Given the description of an element on the screen output the (x, y) to click on. 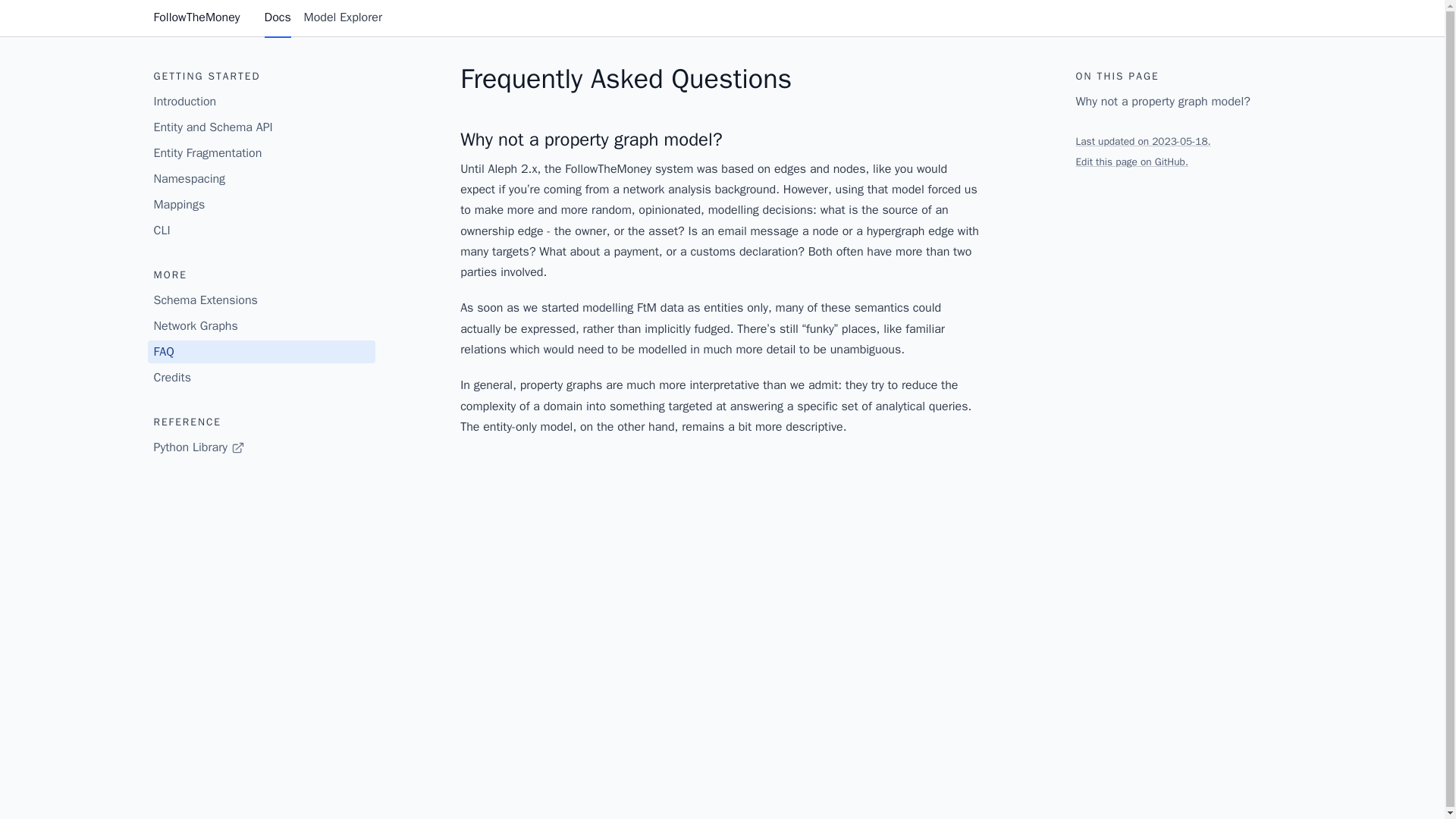
Network Graphs (260, 325)
Python Library (260, 446)
FAQ (260, 351)
Last updated on 2023-05-18. (1142, 141)
Entity Fragmentation (260, 152)
Schema Extensions (260, 300)
Namespacing (260, 178)
CLI (260, 230)
Entity and Schema API (260, 127)
Why not a property graph model? (1182, 101)
